Given the description of an element on the screen output the (x, y) to click on. 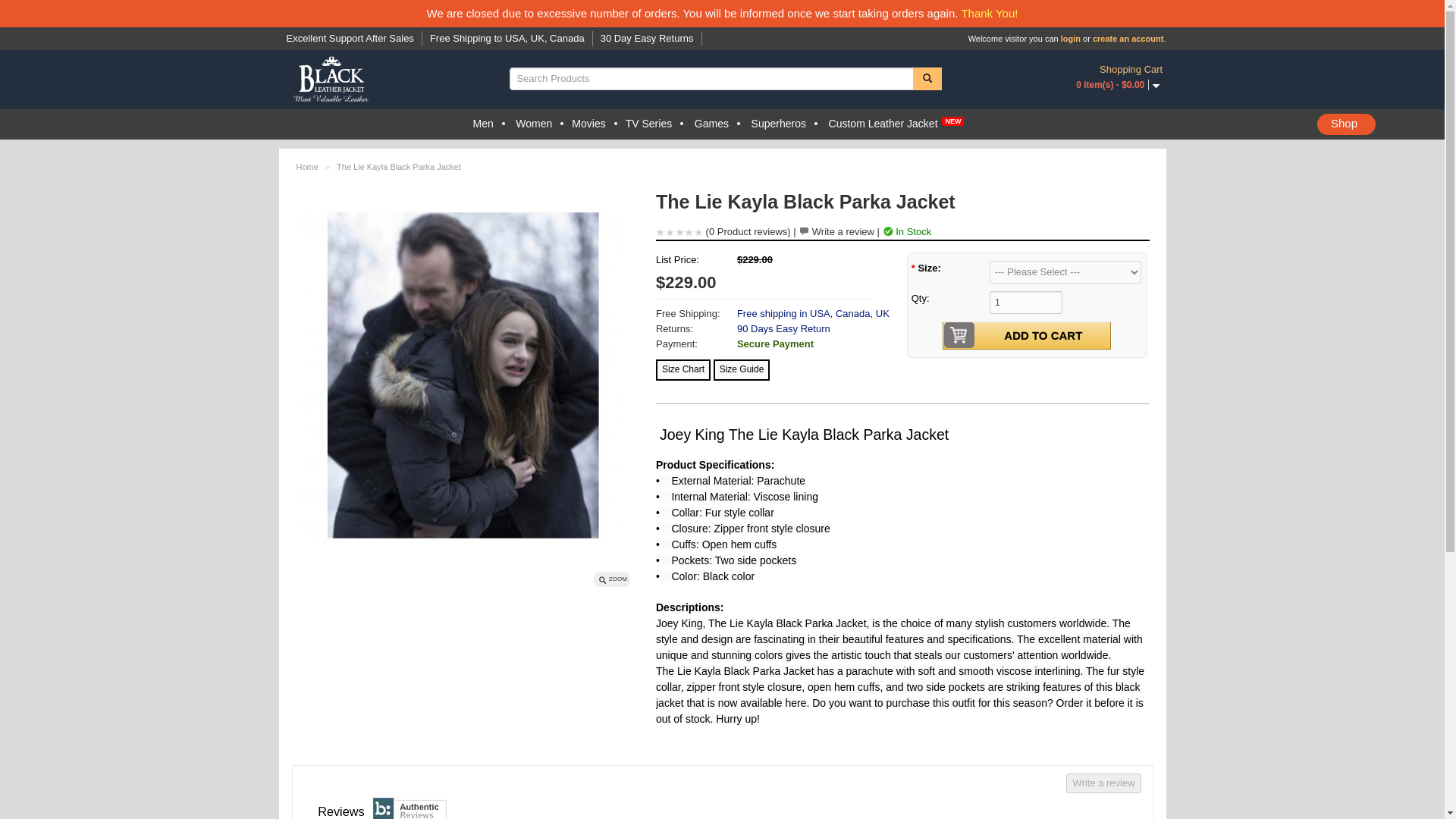
Add to Cart (1042, 335)
create an account (1128, 38)
1 (1026, 302)
Men (482, 123)
Shop (1346, 124)
login (1070, 38)
Black Leather Jacket  (330, 79)
